Given the description of an element on the screen output the (x, y) to click on. 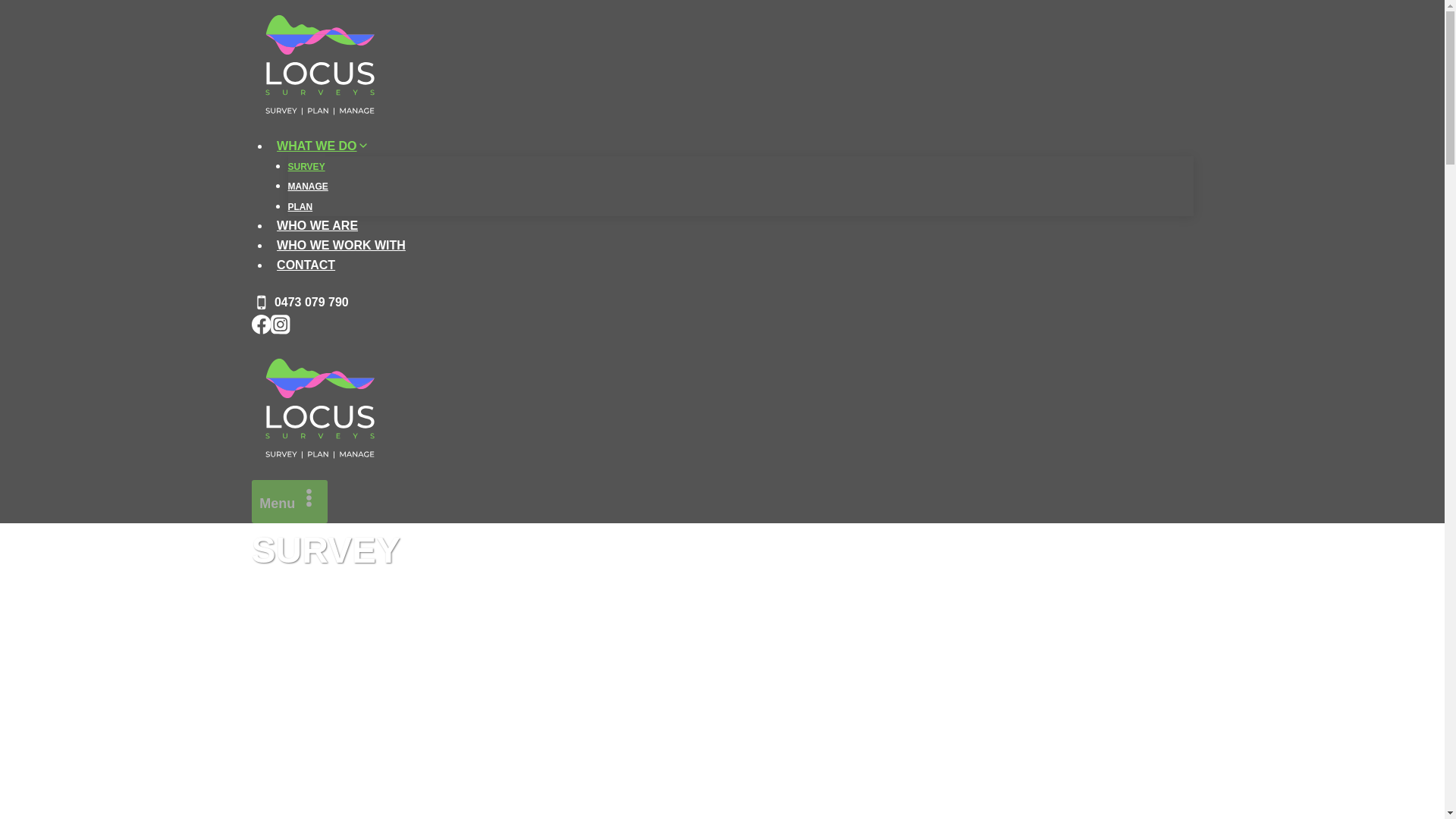
0473 079 790 (300, 302)
WHAT WE DO (323, 145)
WHO WE WORK WITH (341, 245)
CONTACT (305, 264)
Menu (290, 501)
SURVEY (306, 166)
MANAGE (308, 185)
WHO WE ARE (317, 225)
